Given the description of an element on the screen output the (x, y) to click on. 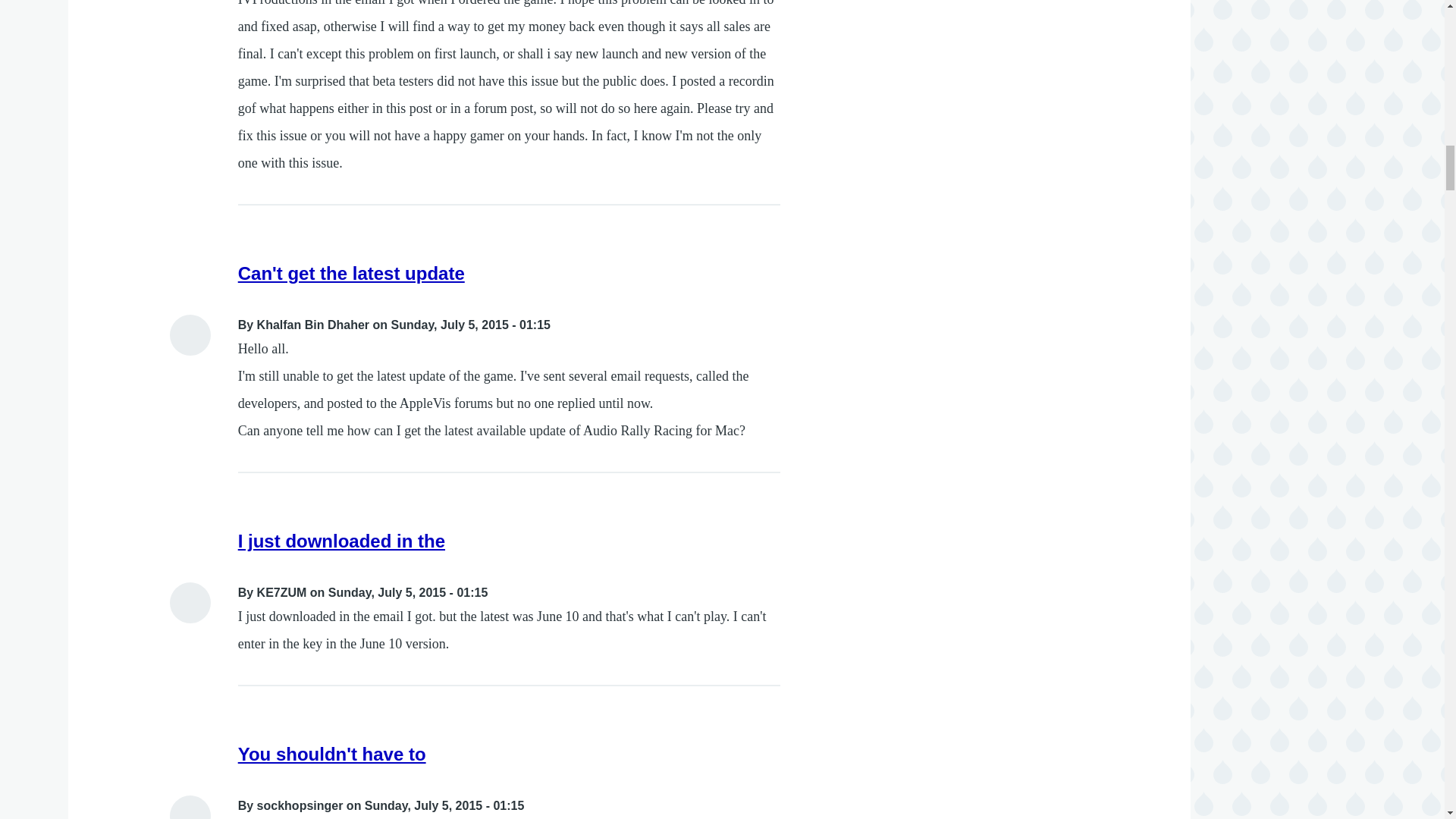
I just downloaded in the (341, 540)
You shouldn't have to (332, 753)
Can't get the latest update (351, 272)
